Given the description of an element on the screen output the (x, y) to click on. 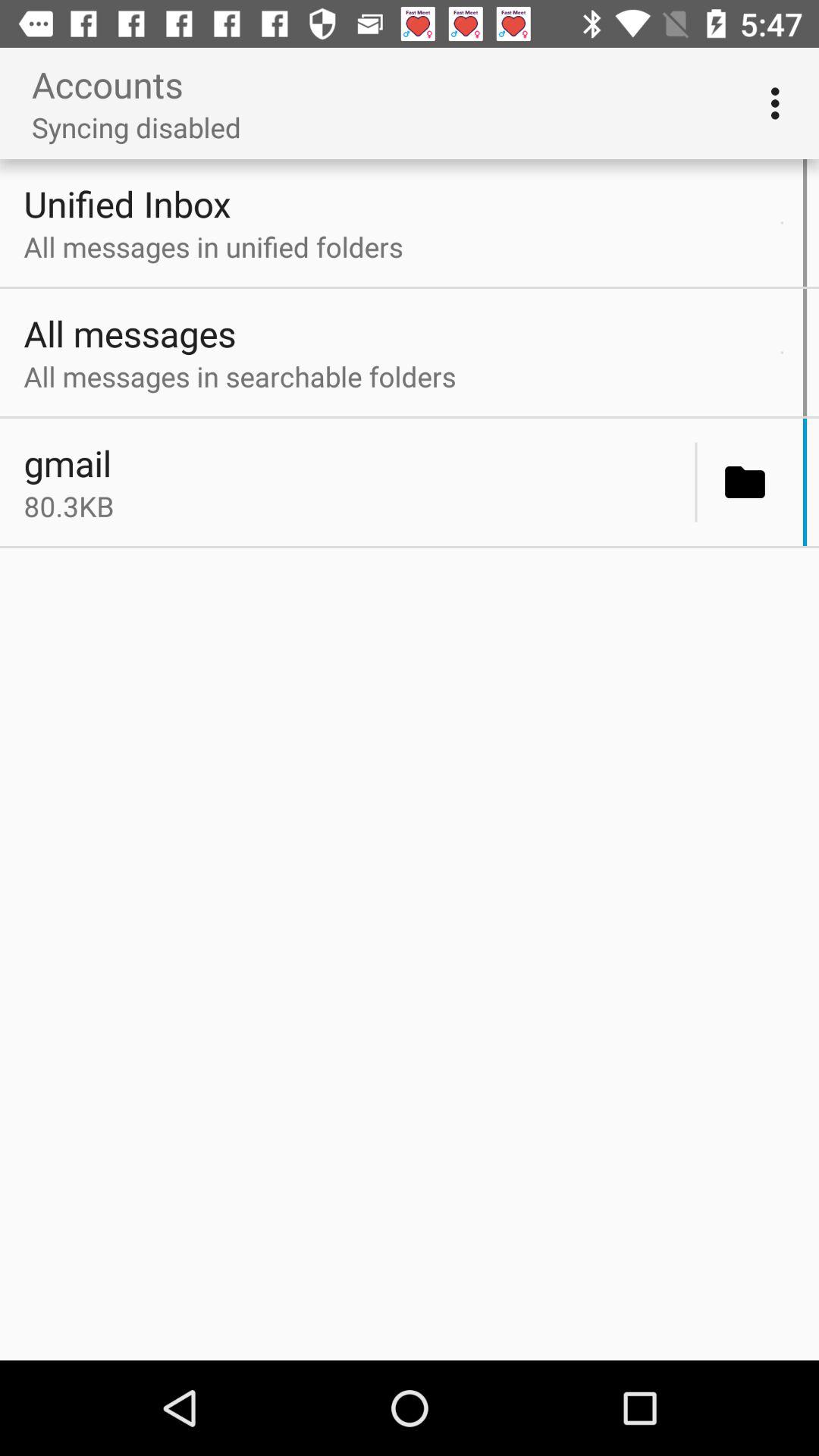
press the icon below all messages in icon (696, 482)
